Given the description of an element on the screen output the (x, y) to click on. 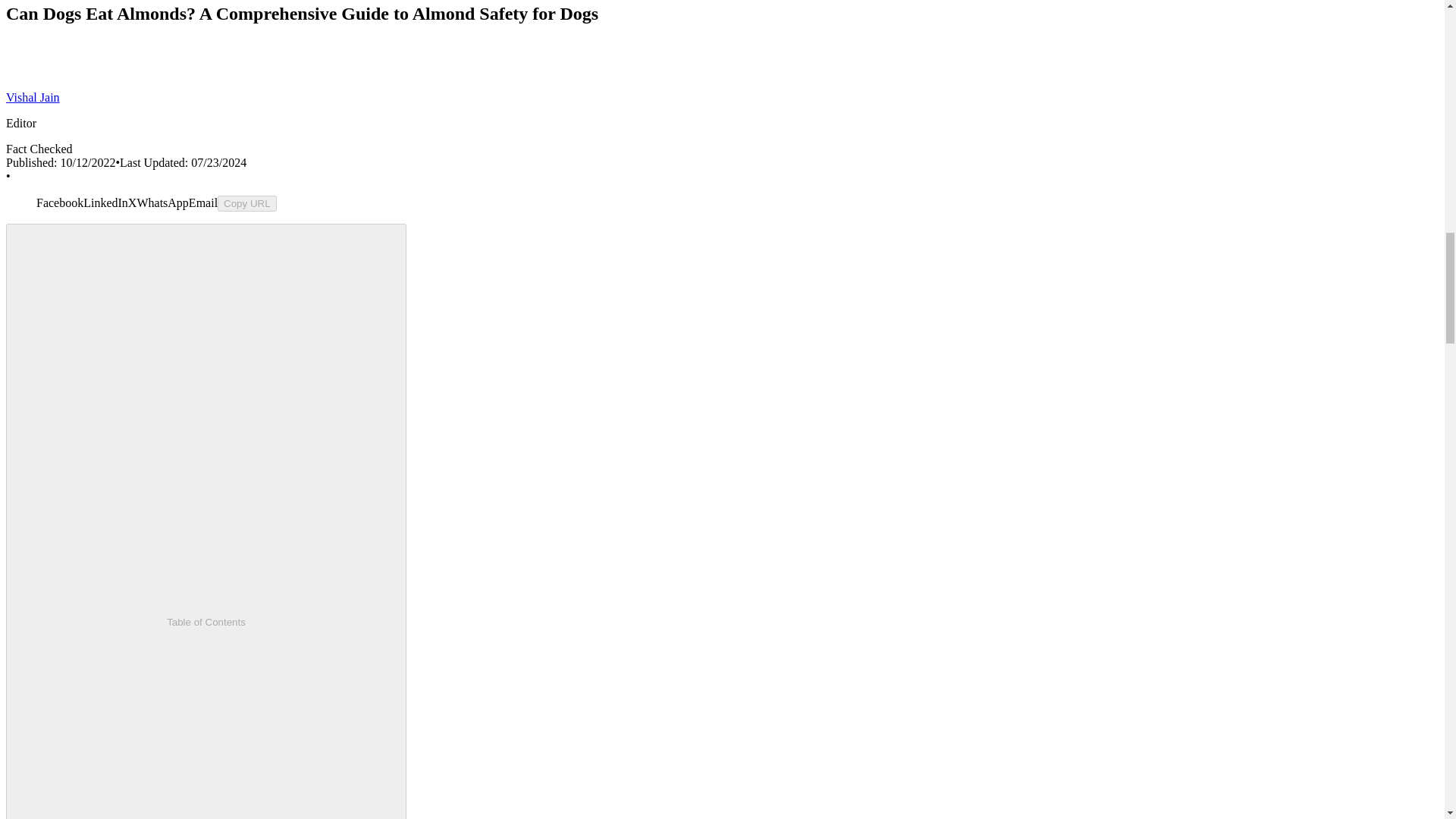
Copy URL (246, 203)
LinkedIn (105, 202)
Copy URL (246, 203)
Email (202, 202)
X (132, 202)
Vishal Jain (32, 97)
Facebook (59, 202)
WhatsApp (161, 202)
